Given the description of an element on the screen output the (x, y) to click on. 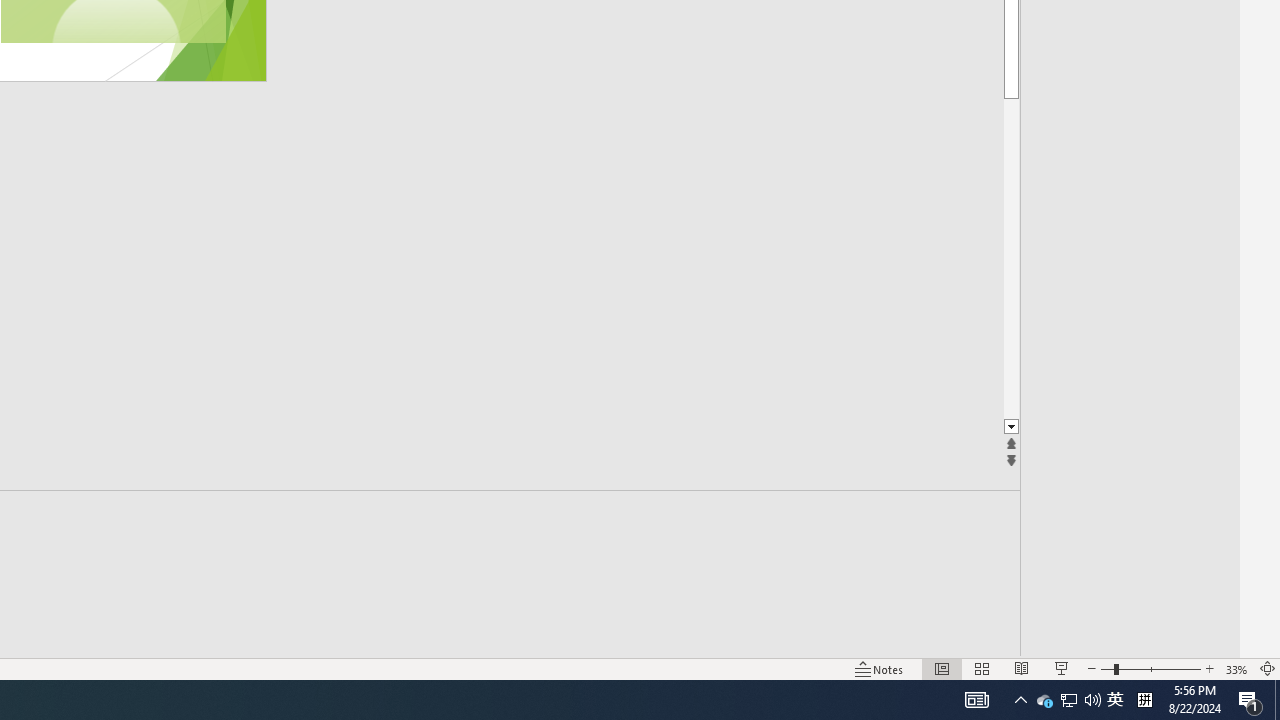
Zoom 33% (1236, 668)
